Given the description of an element on the screen output the (x, y) to click on. 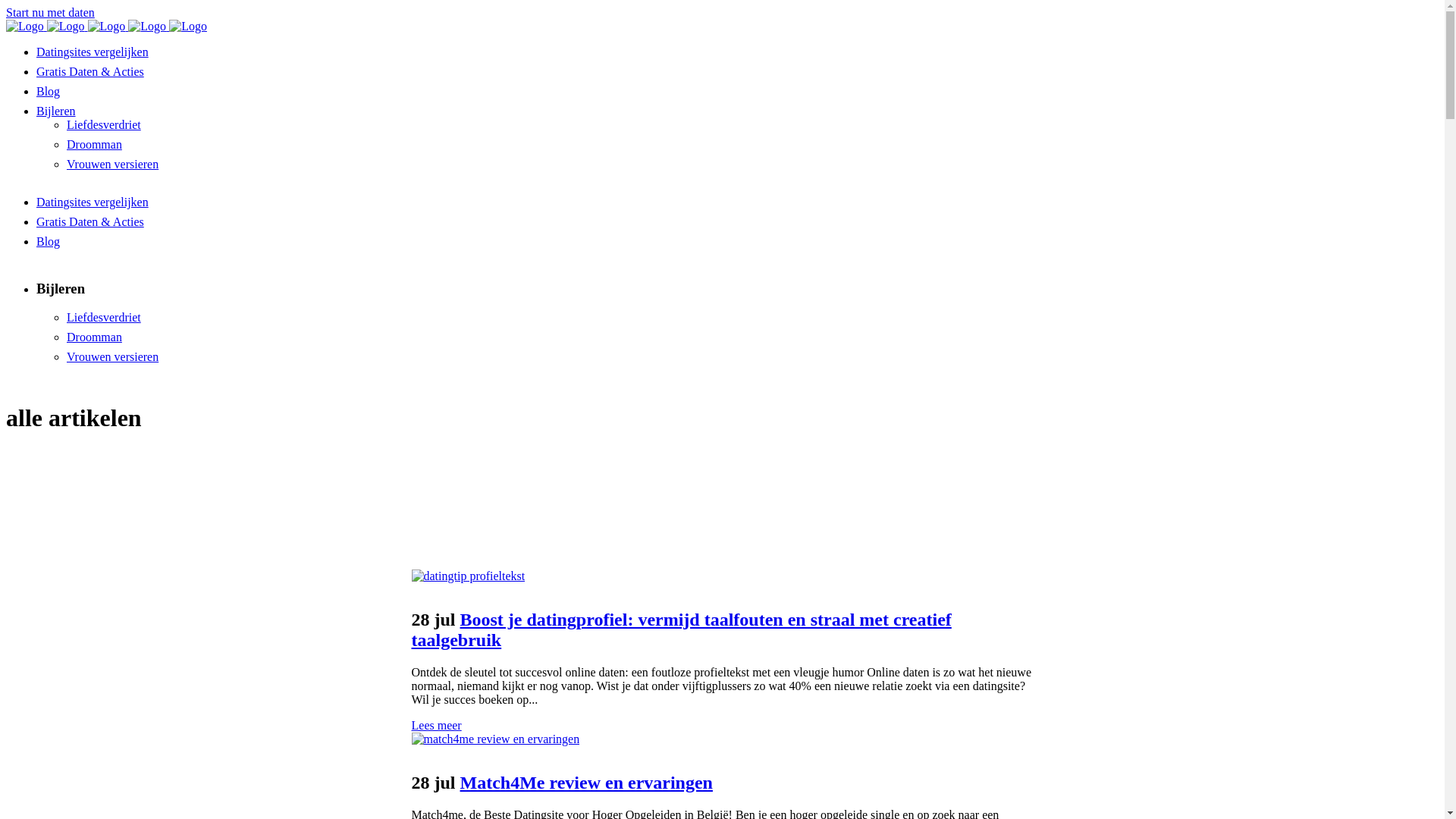
Blog Element type: text (47, 90)
Datingsites vergelijken Element type: text (92, 201)
Droomman Element type: text (94, 144)
Droomman Element type: text (94, 336)
Match4Me review en ervaringen Element type: hover (495, 738)
Vrouwen versieren Element type: text (112, 163)
Bijleren Element type: text (55, 110)
Liefdesverdriet Element type: text (103, 316)
Match4Me review en ervaringen Element type: text (586, 782)
Lees meer Element type: text (436, 724)
Liefdesverdriet Element type: text (103, 124)
Gratis Daten & Acties Element type: text (90, 221)
Blog Element type: text (47, 241)
Start nu met daten Element type: text (50, 12)
Datingsites vergelijken Element type: text (92, 51)
Gratis Daten & Acties Element type: text (90, 71)
Vrouwen versieren Element type: text (112, 356)
